Given the description of an element on the screen output the (x, y) to click on. 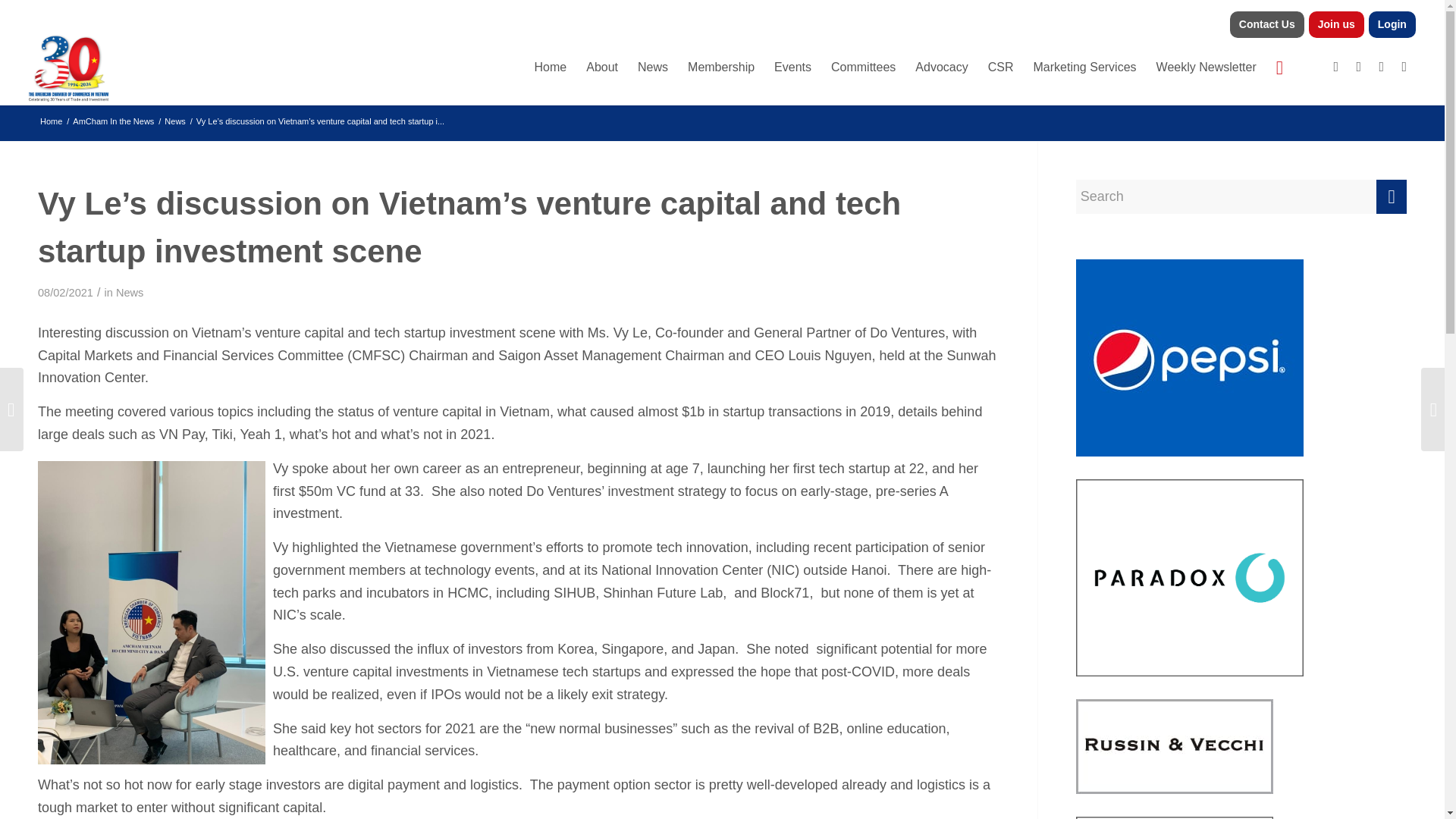
Mail (1404, 66)
Login (1391, 24)
AmCham In the News (112, 120)
Membership (721, 67)
LinkedIn (1359, 66)
Contact Us (1267, 24)
Facebook (1336, 66)
Join us (1336, 24)
amcham 30 anniversary (68, 67)
Instagram (1381, 66)
